Given the description of an element on the screen output the (x, y) to click on. 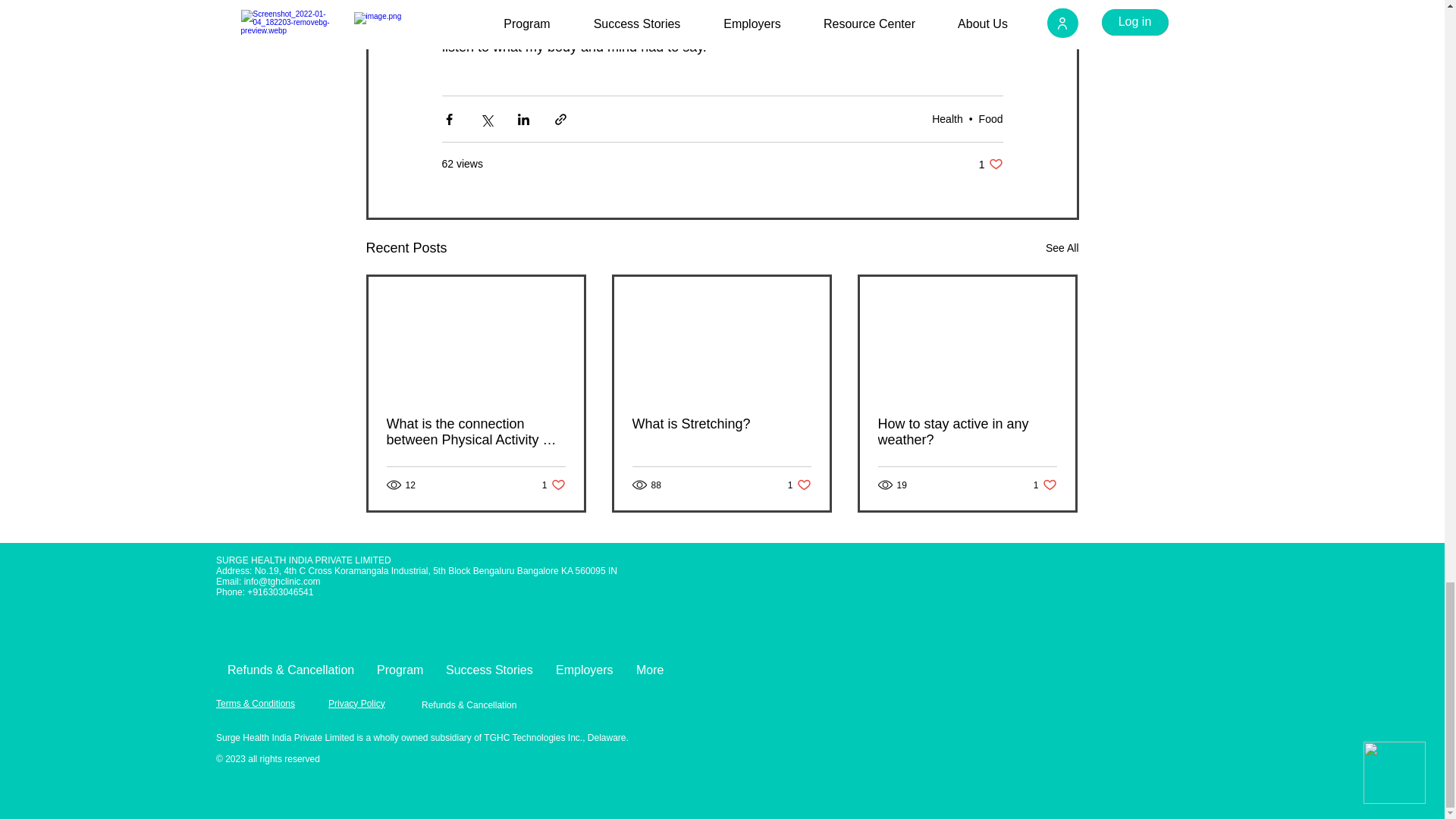
See All (1061, 248)
How to stay active in any weather? (553, 484)
What is Stretching? (1045, 484)
Health (798, 484)
Food (967, 431)
